Given the description of an element on the screen output the (x, y) to click on. 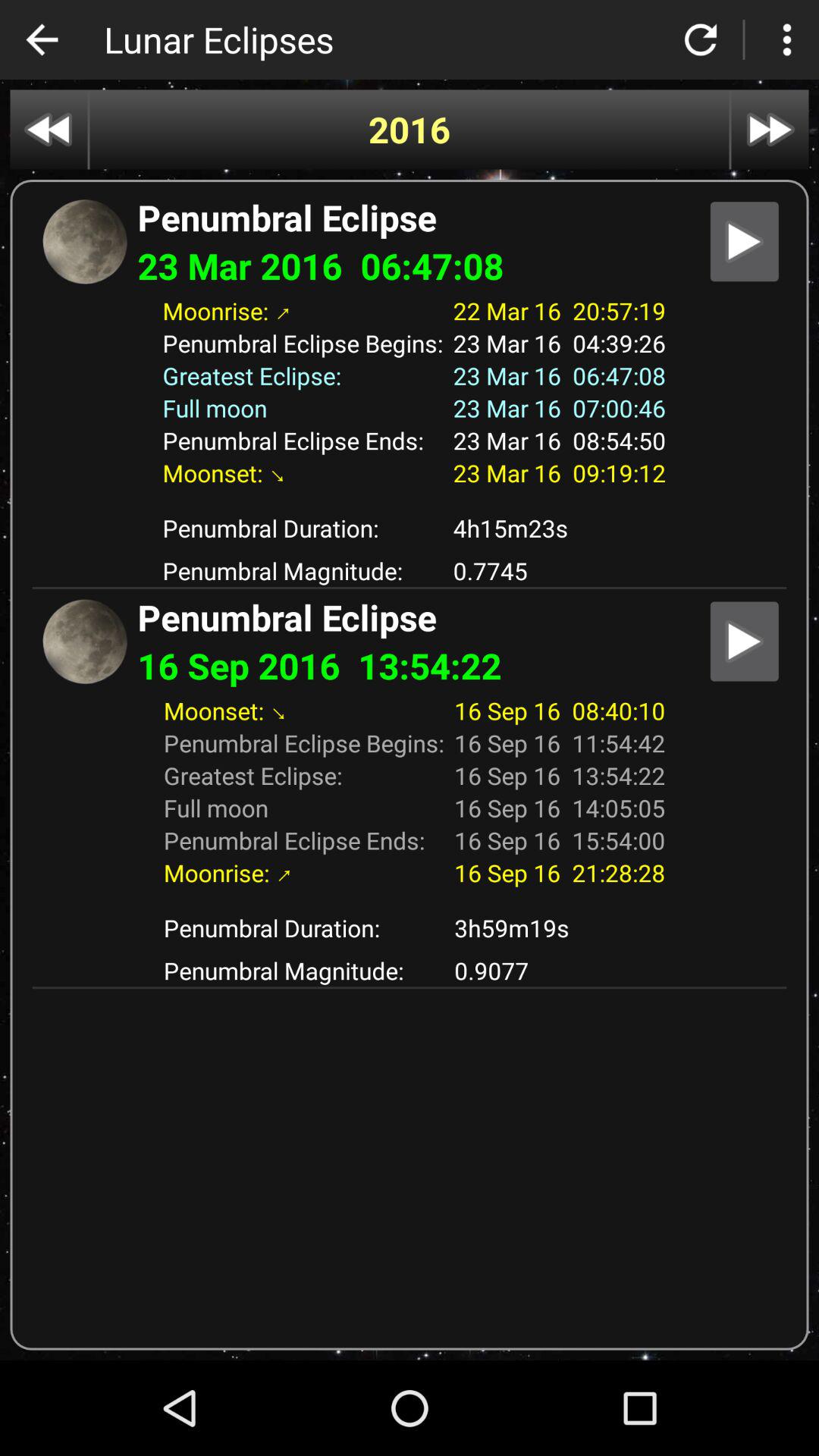
choose app above the penumbral magnitude: item (559, 927)
